Given the description of an element on the screen output the (x, y) to click on. 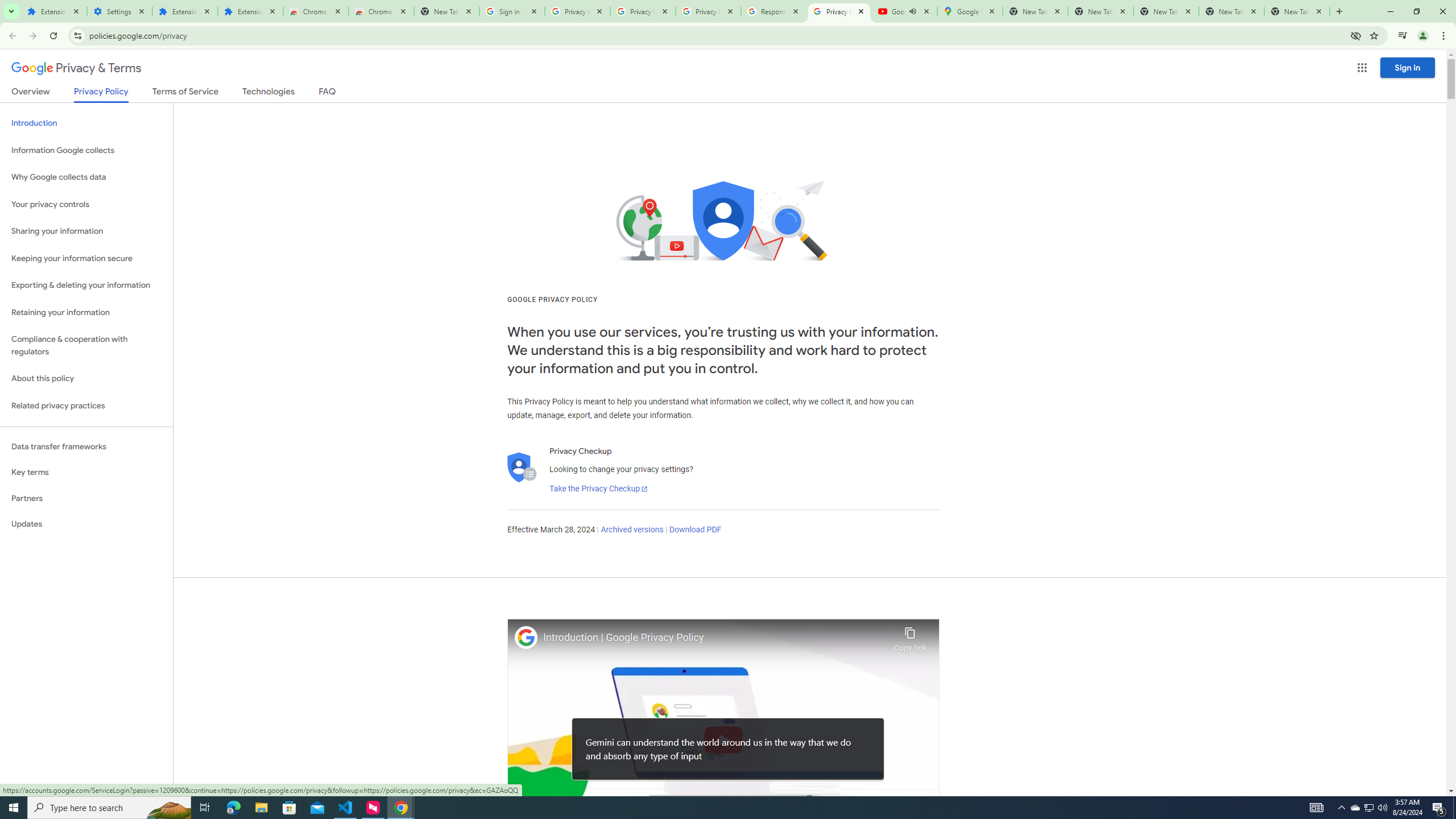
Archived versions (631, 529)
Copy link (909, 636)
Extensions (250, 11)
Introduction (86, 122)
Retaining your information (86, 312)
Third-party cookies blocked (1355, 35)
Address and search bar (715, 35)
View site information (77, 35)
Keeping your information secure (86, 258)
Sign in (1407, 67)
Technologies (268, 93)
Chrome Web Store - Themes (381, 11)
